Given the description of an element on the screen output the (x, y) to click on. 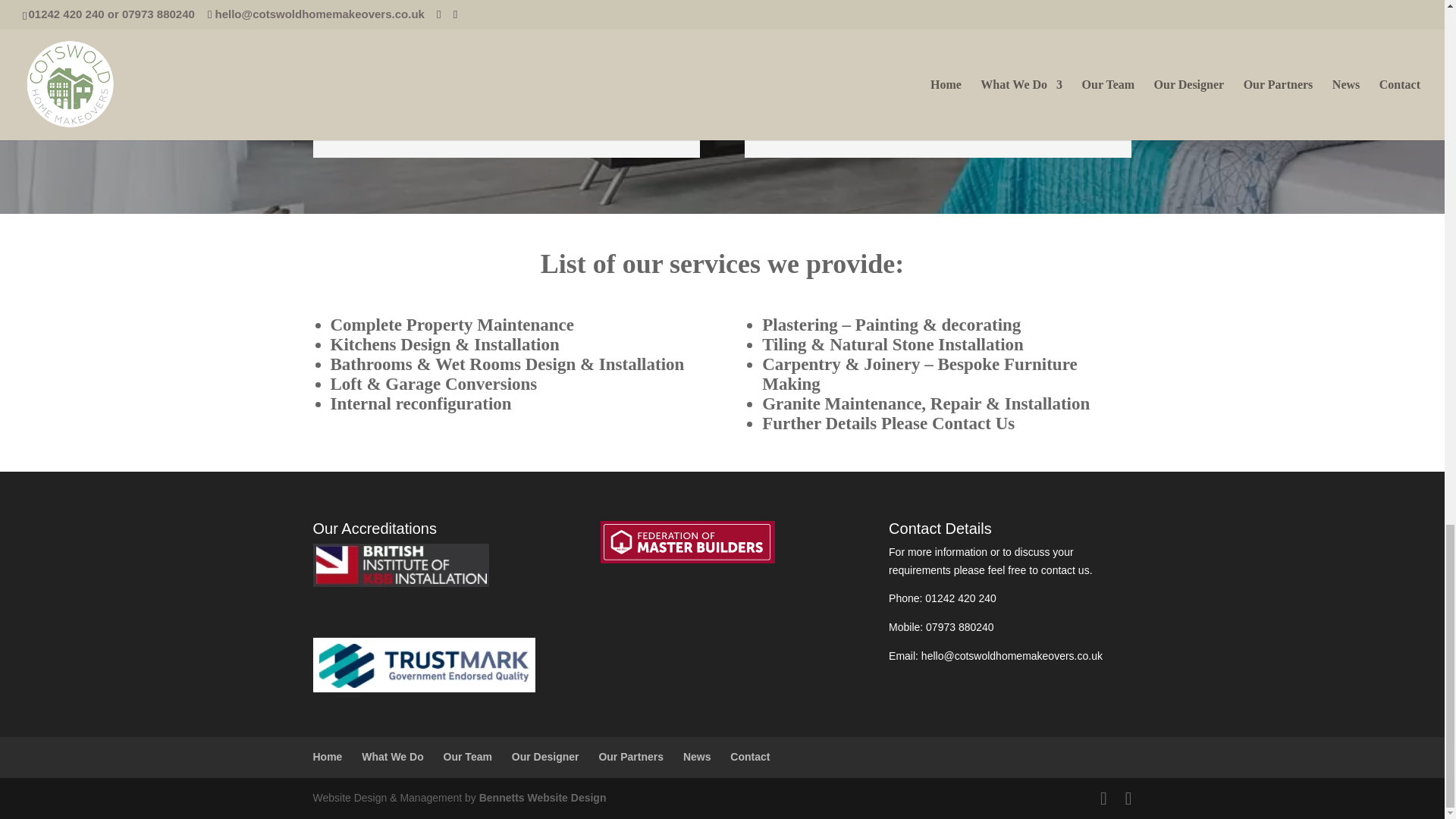
Home (327, 756)
Our Designer (545, 756)
Our Partners (630, 756)
What We Do (392, 756)
Our Team (468, 756)
